Given the description of an element on the screen output the (x, y) to click on. 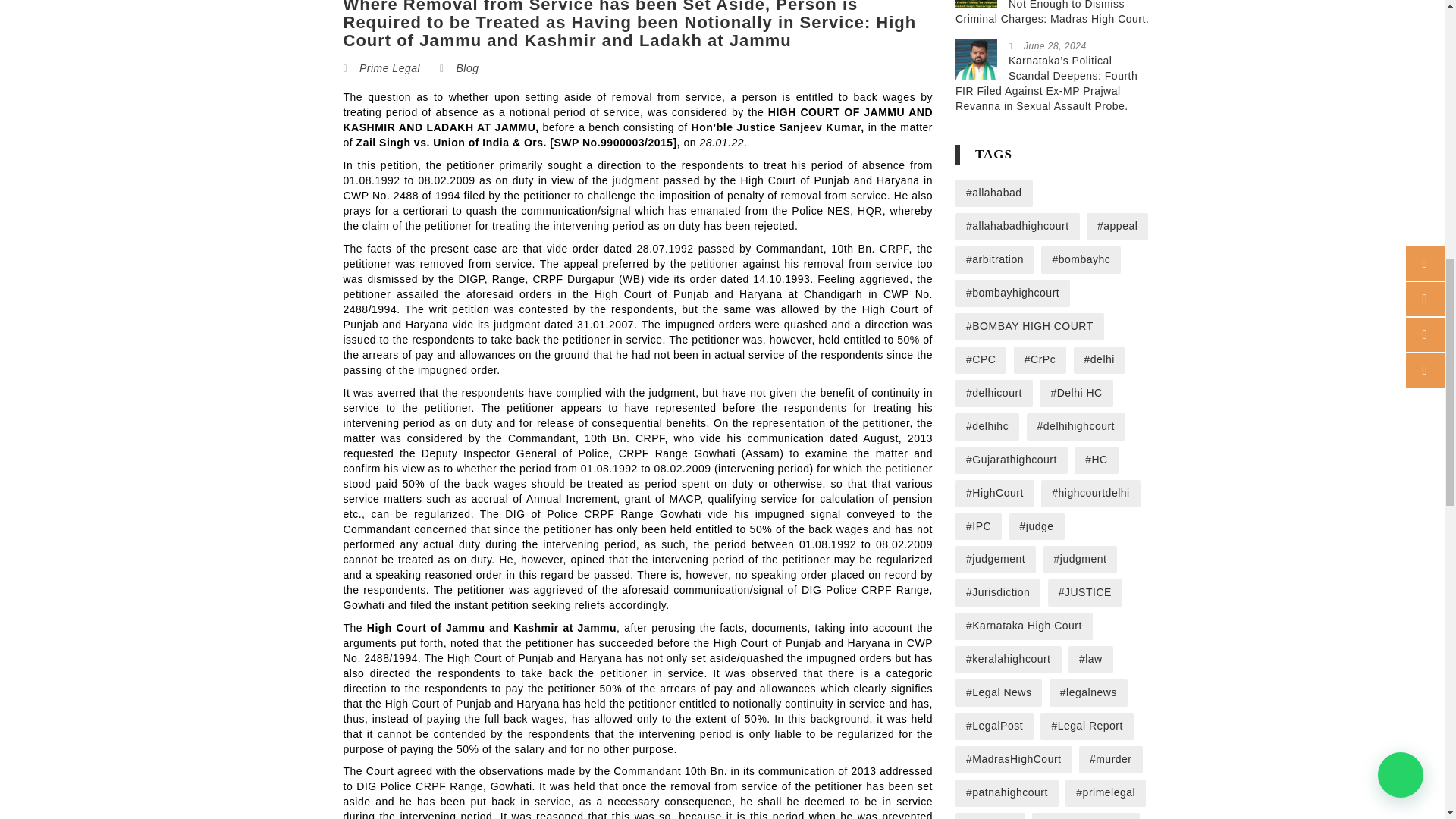
View all posts by Prime Legal (389, 68)
Prime Legal (389, 68)
Blog (467, 68)
